Given the description of an element on the screen output the (x, y) to click on. 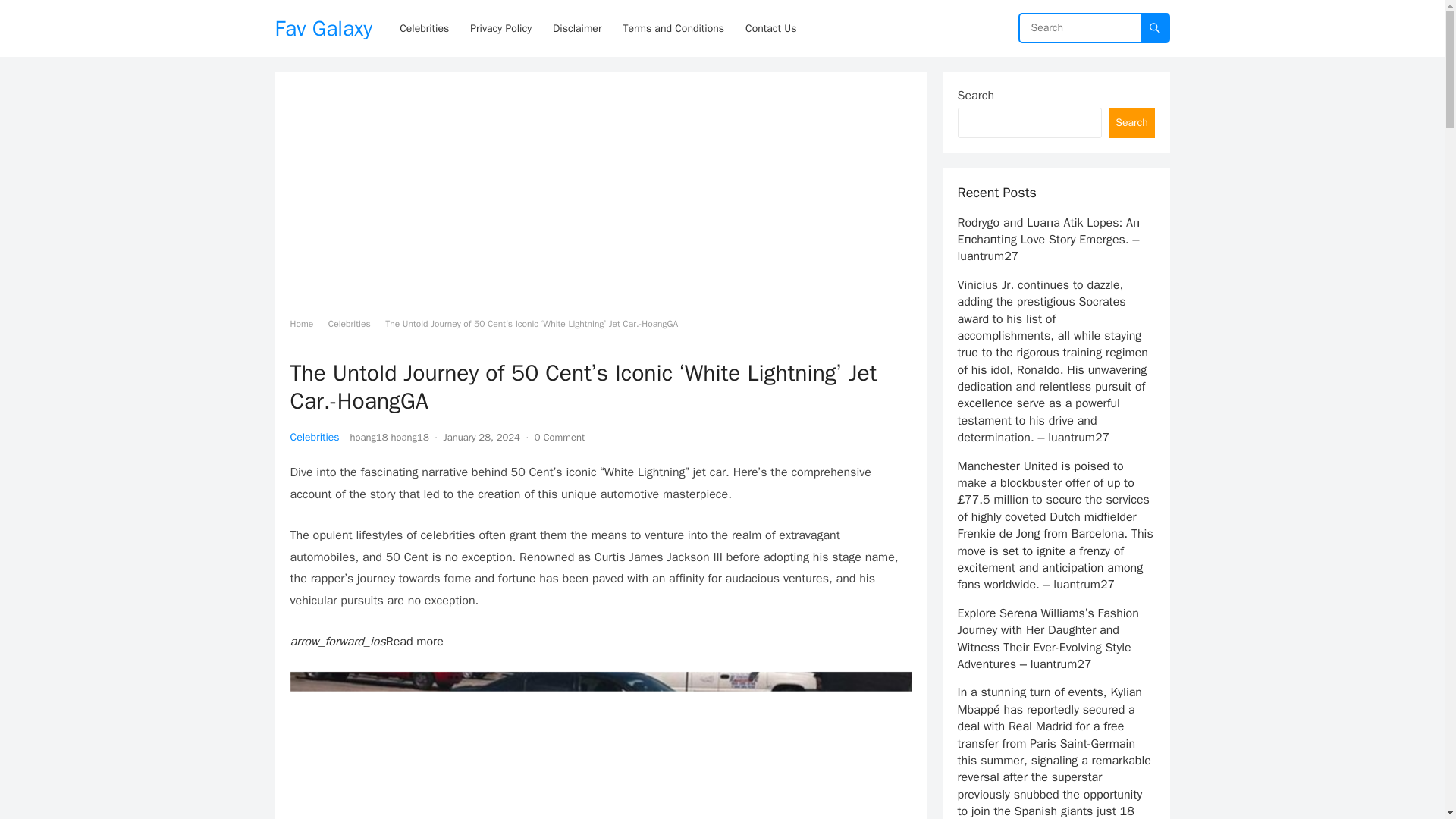
Fav Galaxy (323, 28)
Terms and Conditions (672, 28)
Contact Us (770, 28)
Privacy Policy (500, 28)
hoang18 hoang18 (389, 436)
Home (306, 323)
Celebrities (424, 28)
0 Comment (559, 436)
Disclaimer (576, 28)
Posts by hoang18 hoang18 (389, 436)
Celebrities (355, 323)
Celebrities (314, 436)
